Given the description of an element on the screen output the (x, y) to click on. 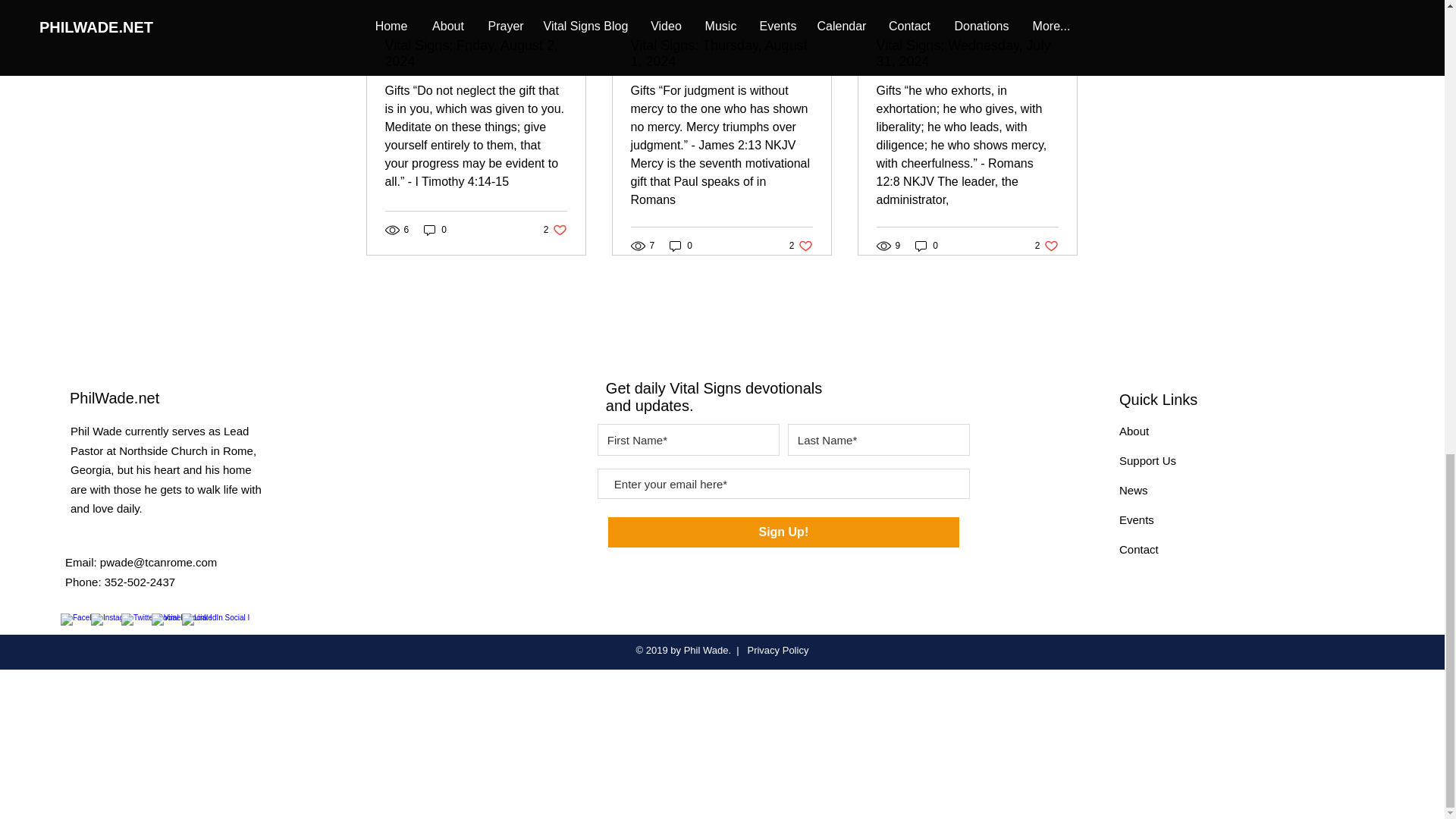
0 (435, 228)
See All (1061, 2)
0 (926, 246)
About (1046, 246)
Vital Signs: Thursday, August 1, 2024 (800, 246)
0 (1133, 431)
Support Us (721, 53)
